Given the description of an element on the screen output the (x, y) to click on. 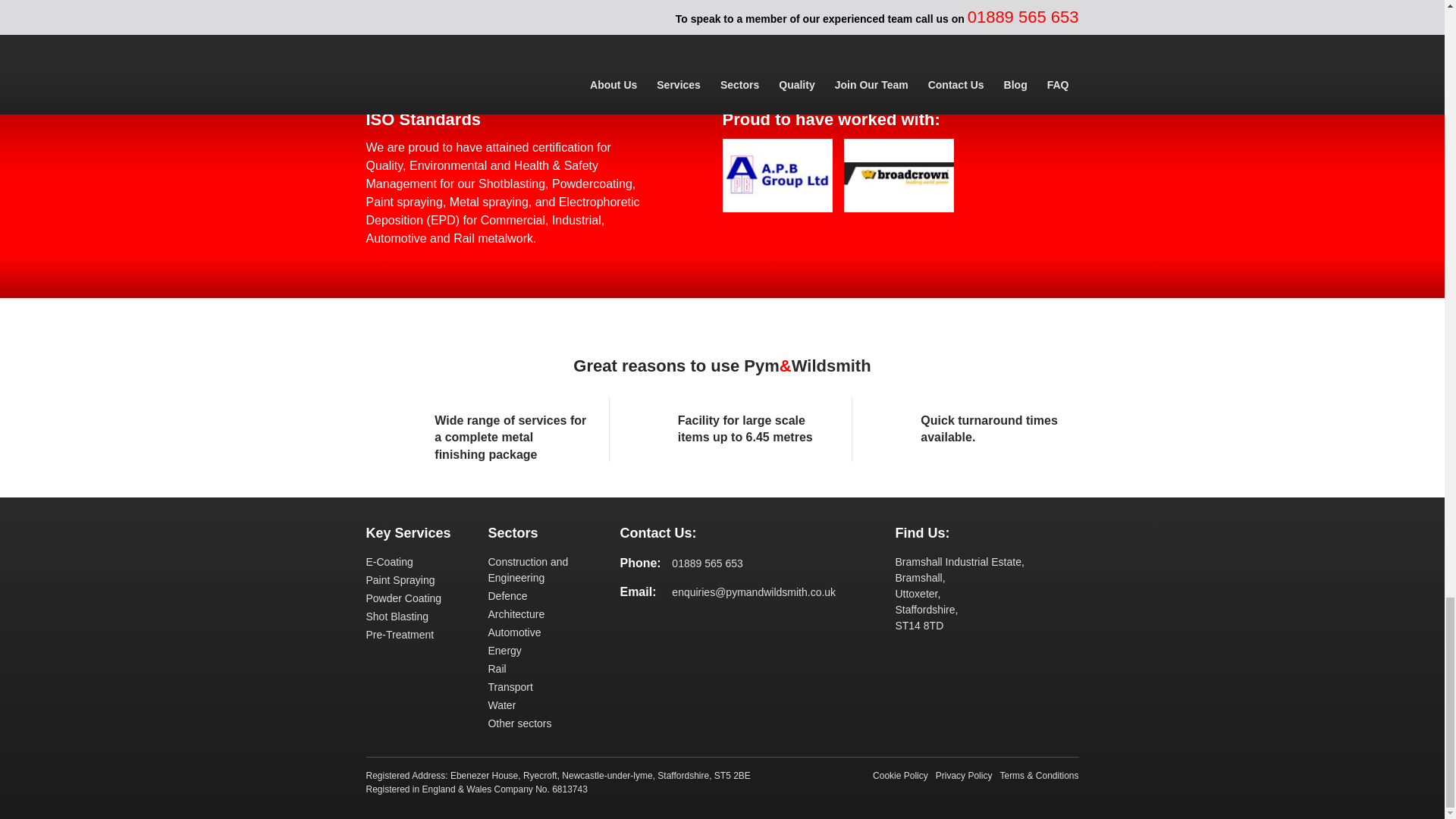
Facebook (486, 47)
LinkedIn (656, 47)
Twitter (684, 624)
You Tube (715, 624)
Email (834, 47)
Facebook (625, 624)
WhatsApp (748, 47)
Linkedin (654, 624)
contact us (401, 15)
Twitter (572, 47)
